Given the description of an element on the screen output the (x, y) to click on. 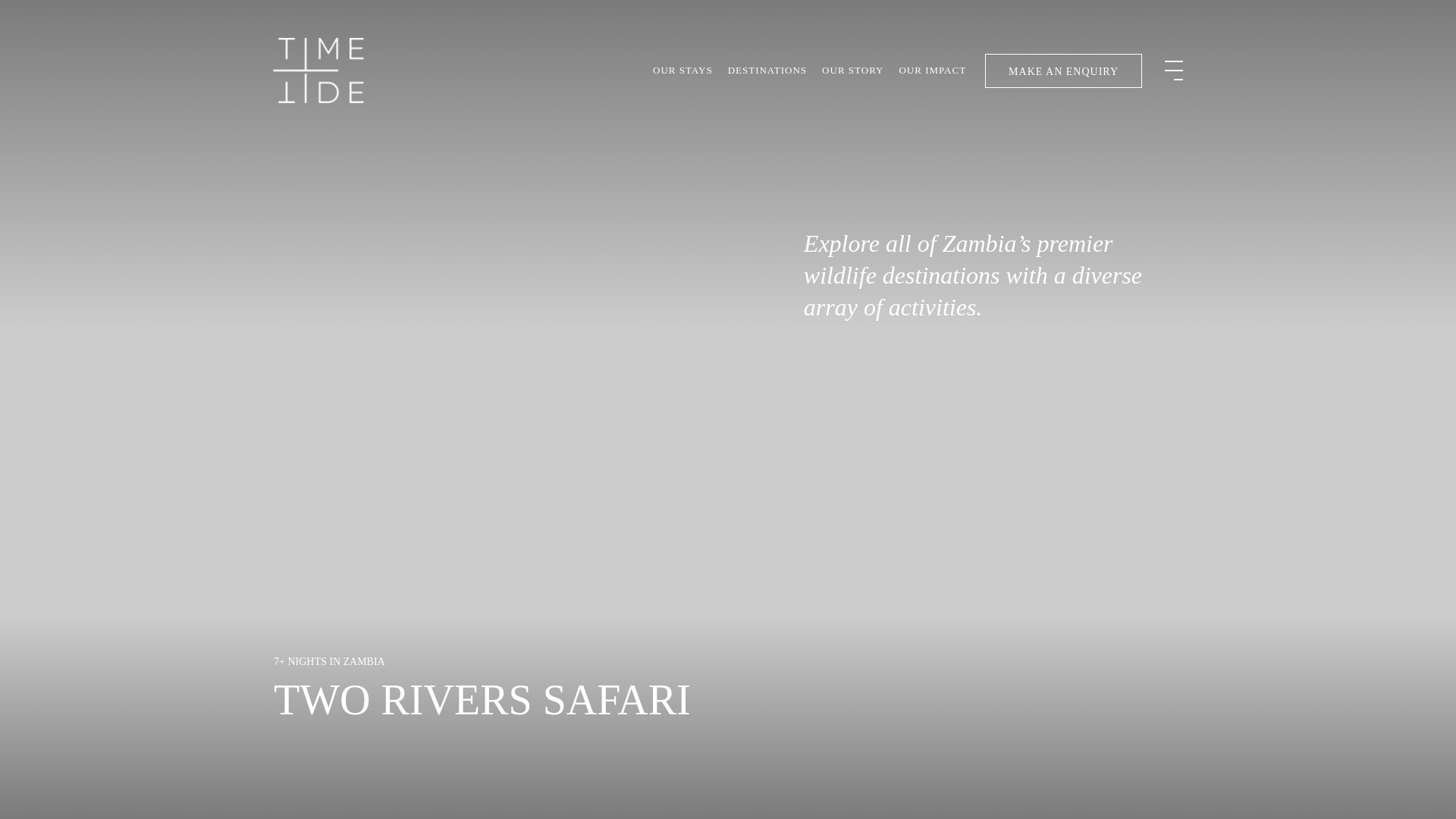
Destinations (448, 234)
OUR STORY (852, 70)
Our Stays (423, 169)
Our Journal (963, 233)
OUR STAYS (682, 70)
Rates (948, 205)
Journeys (955, 150)
Our Impact (438, 364)
Special Offers (968, 177)
OUR IMPACT (932, 70)
